Given the description of an element on the screen output the (x, y) to click on. 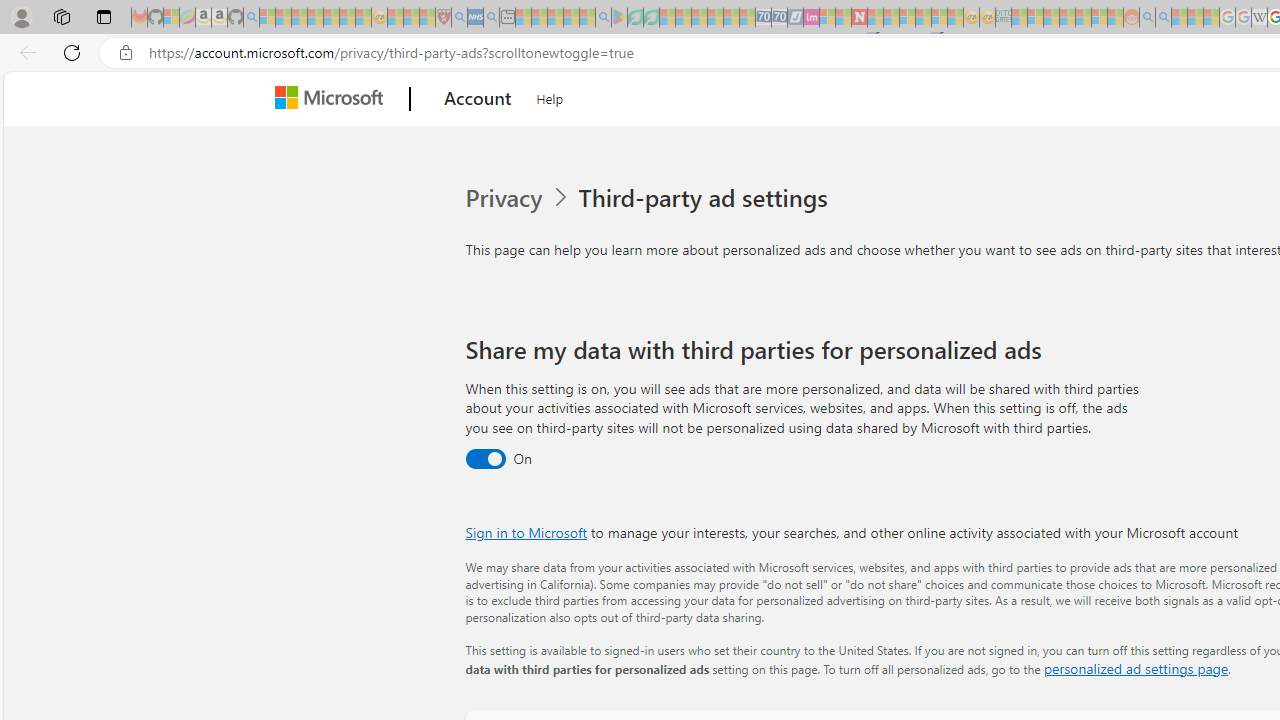
Target page - Wikipedia - Sleeping (1259, 17)
Sign in to Microsoft (525, 532)
Account (477, 99)
